Given the description of an element on the screen output the (x, y) to click on. 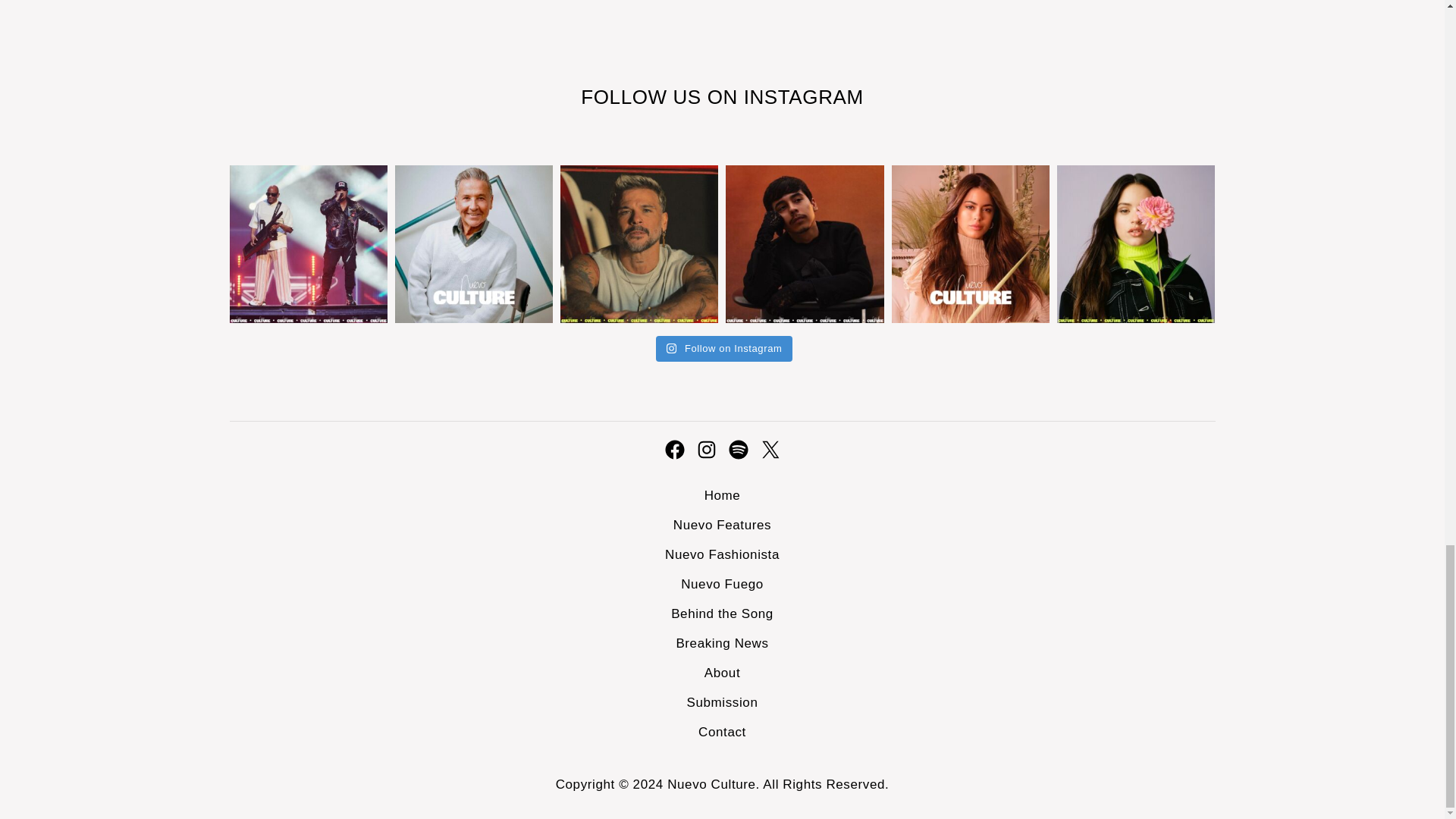
Spotify (737, 449)
FOLLOW US ON  (661, 96)
Follow on Instagram (724, 348)
Facebook (673, 449)
Instagram (705, 449)
